Given the description of an element on the screen output the (x, y) to click on. 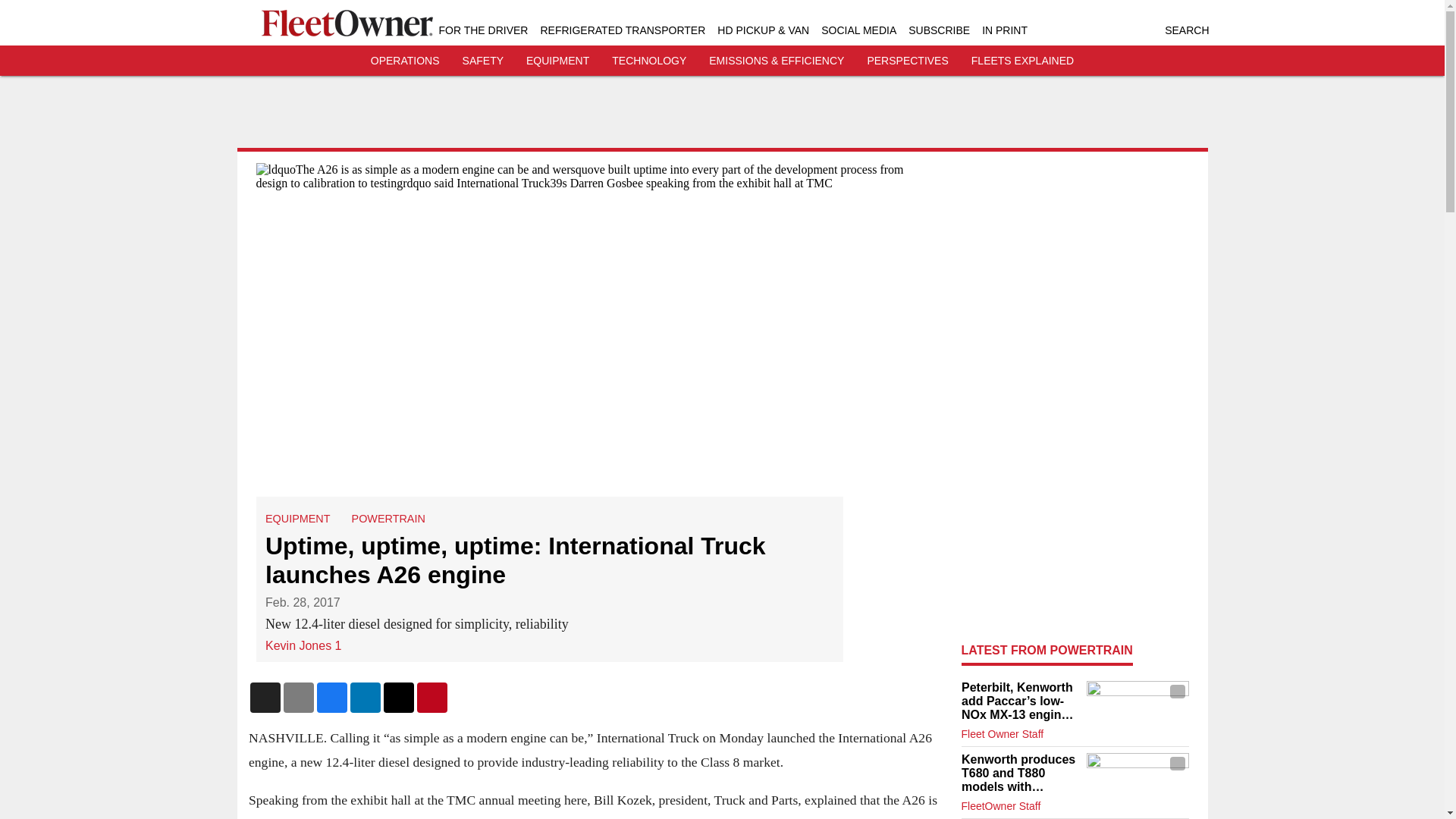
Kevin Jones 1 (303, 645)
SEARCH (1186, 30)
IN PRINT (1004, 30)
POWERTRAIN (387, 518)
SUBSCRIBE (938, 30)
TECHNOLOGY (648, 60)
EQUIPMENT (297, 518)
OPERATIONS (405, 60)
SAFETY (483, 60)
EQUIPMENT (557, 60)
FOR THE DRIVER (482, 30)
REFRIGERATED TRANSPORTER (622, 30)
SOCIAL MEDIA (858, 30)
PERSPECTIVES (906, 60)
